Given the description of an element on the screen output the (x, y) to click on. 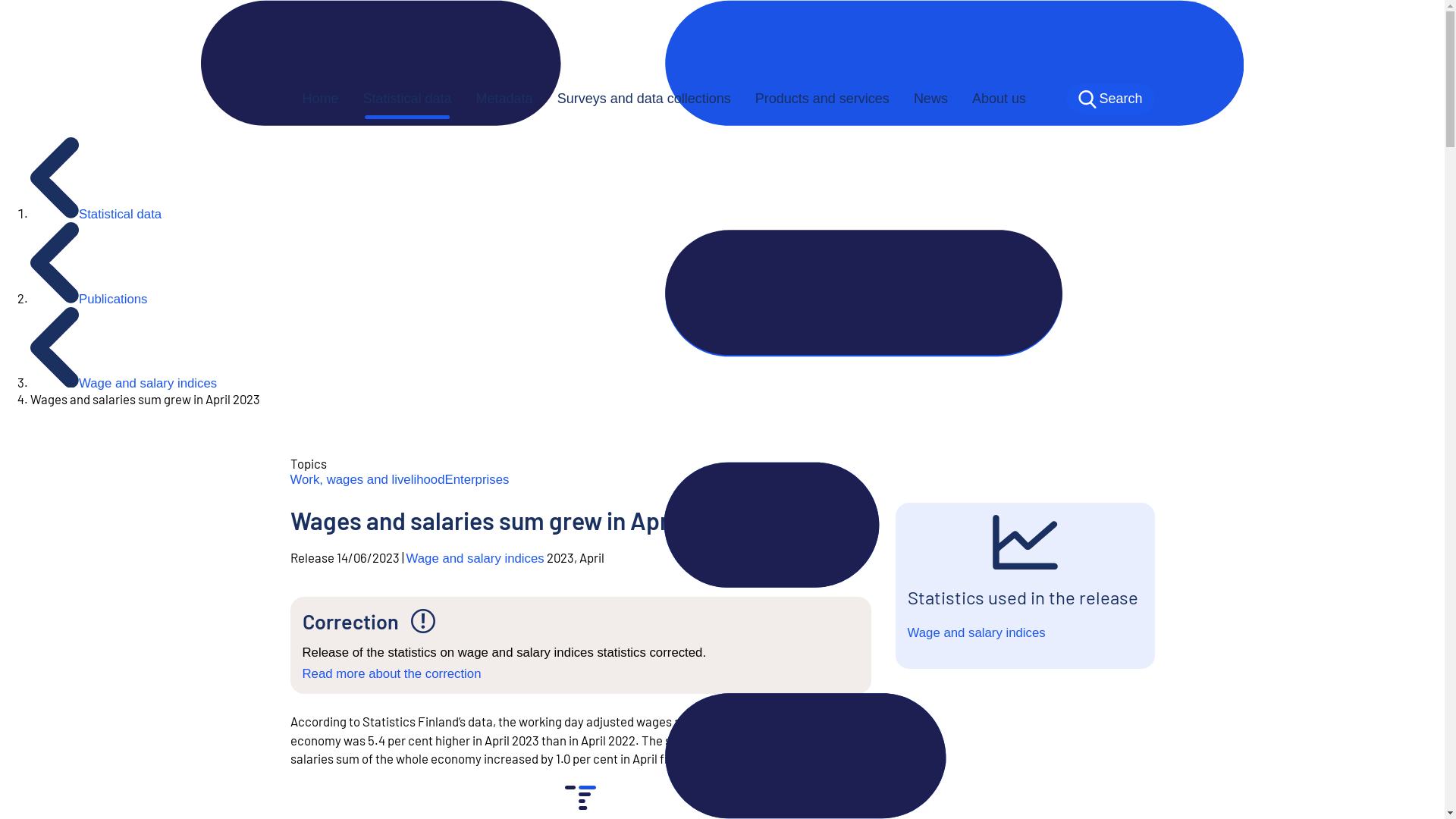
Read more about the correction (390, 673)
Suomeksi (955, 42)
In English (1118, 42)
Metadata (504, 98)
Wage and salary indices (976, 632)
About us (998, 98)
Statistical data (95, 214)
Products and services (821, 98)
News (930, 98)
Search (1109, 99)
Home (319, 98)
Enterprises (476, 479)
Publications (89, 298)
Wage and salary indices (475, 558)
Statistical data (407, 98)
